Given the description of an element on the screen output the (x, y) to click on. 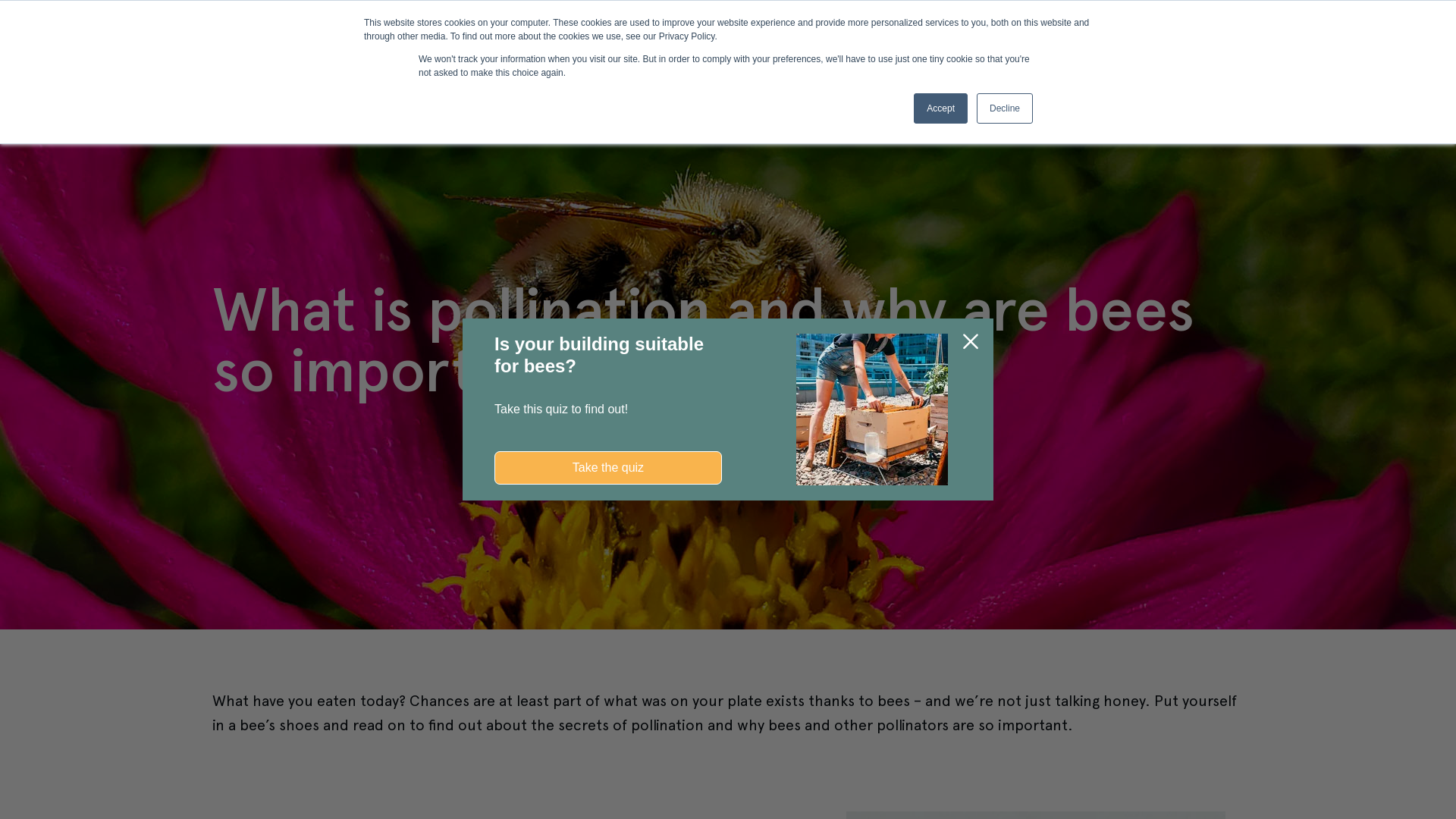
Accept Element type: text (940, 108)
Resources Element type: text (583, 29)
Decline Element type: text (1004, 108)
Our packages Element type: text (478, 30)
Our services Element type: text (368, 29)
Corporate gifts Element type: text (693, 30)
Company Element type: text (802, 29)
MyHive Element type: text (1090, 28)
Let's Talk Element type: text (1387, 29)
